Given the description of an element on the screen output the (x, y) to click on. 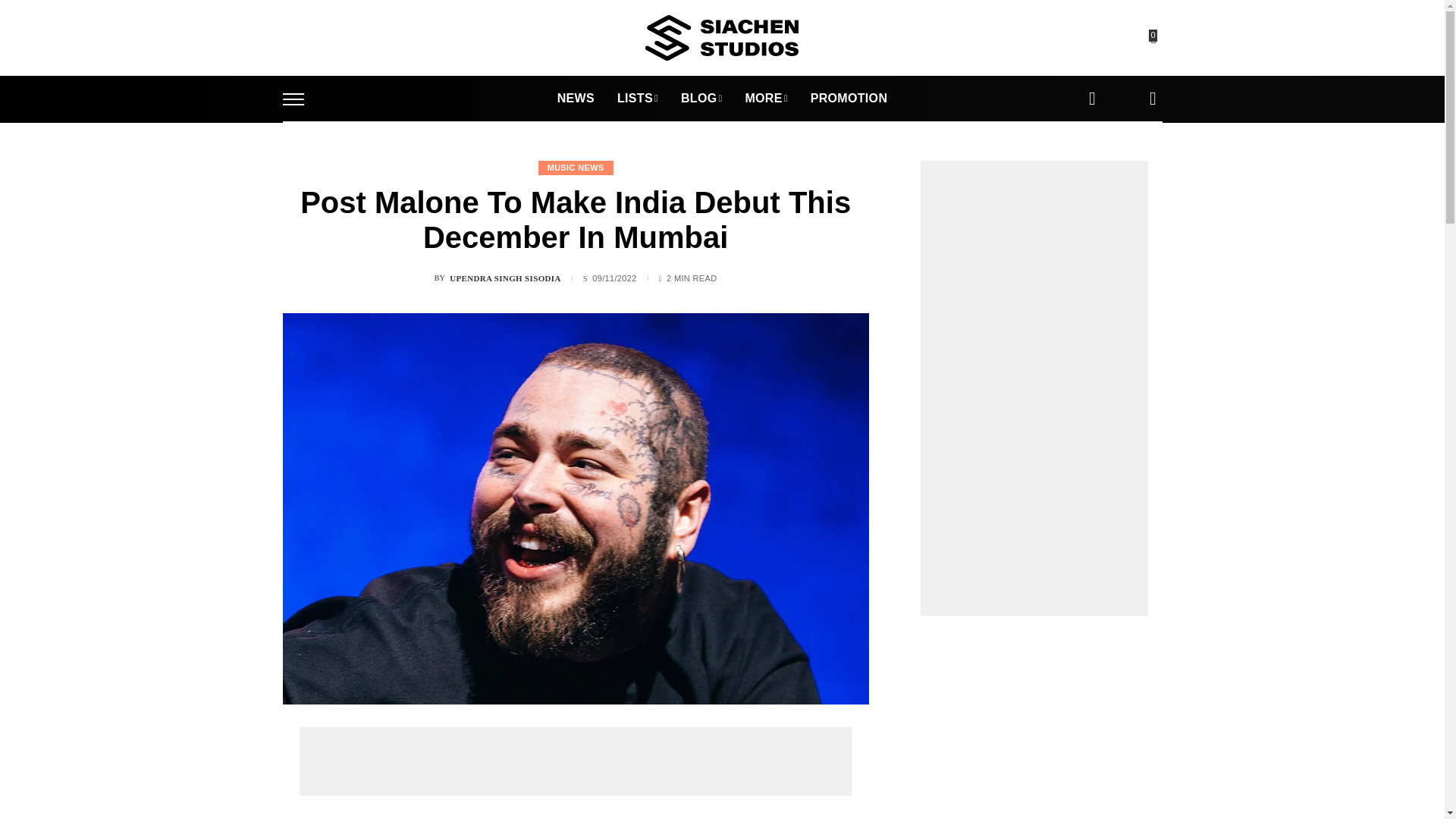
NEWS (575, 98)
LISTS (637, 98)
Siachen Studios (721, 37)
